Given the description of an element on the screen output the (x, y) to click on. 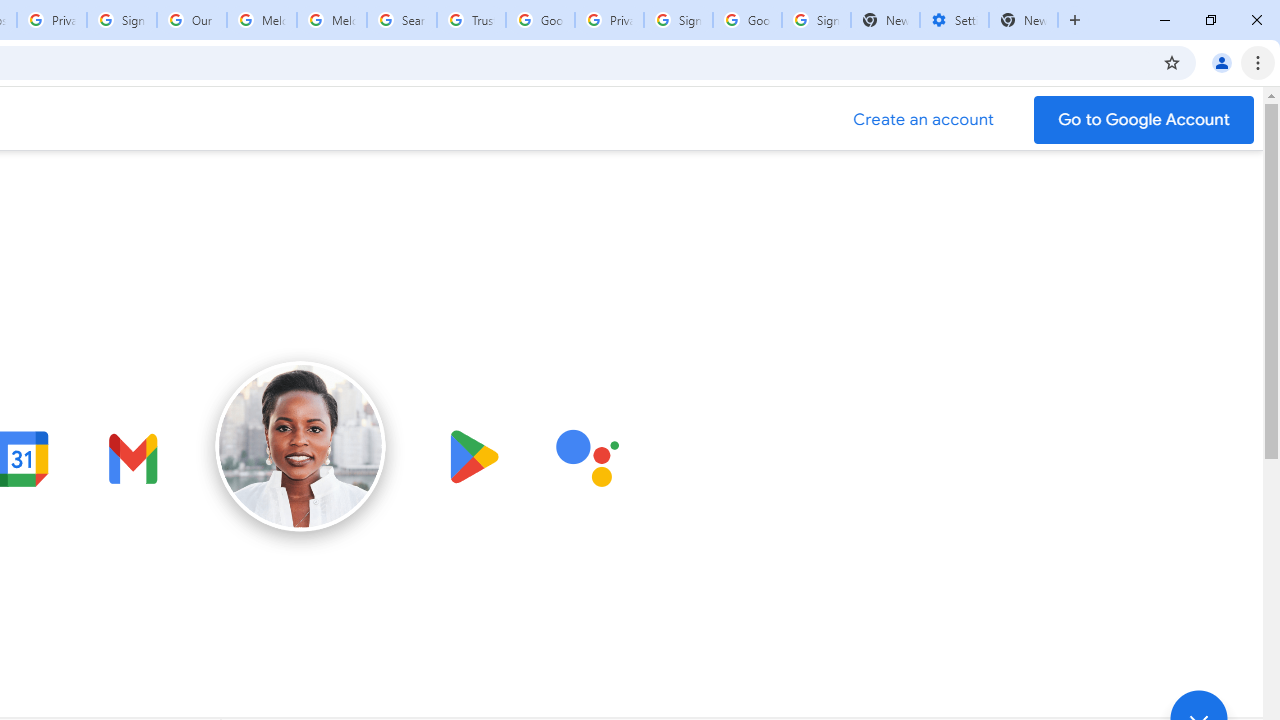
Search our Doodle Library Collection - Google Doodles (401, 20)
Google Cybersecurity Innovations - Google Safety Center (747, 20)
Trusted Information and Content - Google Safety Center (470, 20)
Sign in - Google Accounts (816, 20)
New Tab (1023, 20)
Create a Google Account (923, 119)
Sign in - Google Accounts (122, 20)
Settings - Addresses and more (954, 20)
